Given the description of an element on the screen output the (x, y) to click on. 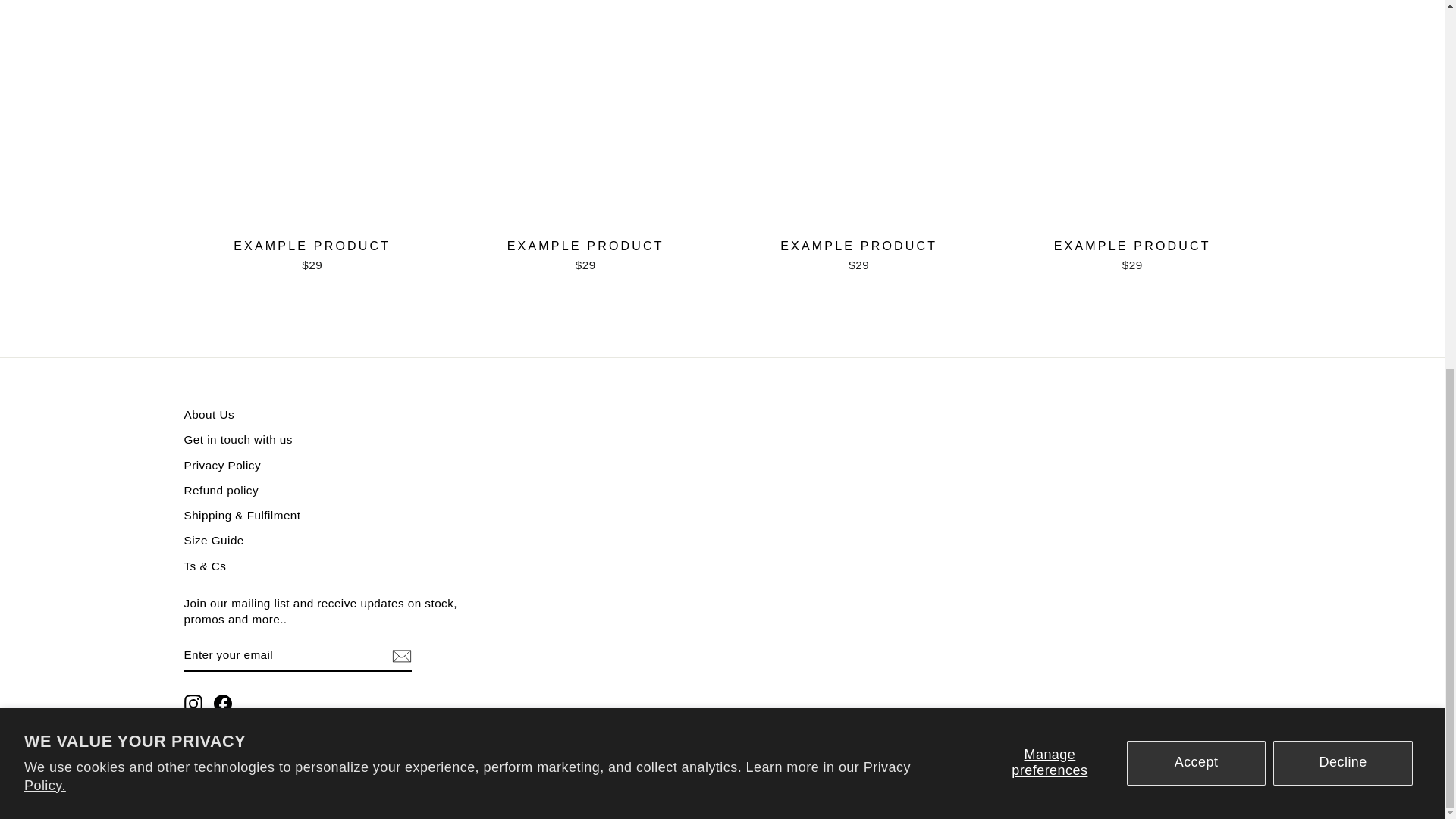
Accept (1196, 95)
icon-email (400, 656)
Privacy Policy. (467, 108)
Manage preferences (1049, 95)
Decline (1342, 95)
instagram (192, 703)
